Given the description of an element on the screen output the (x, y) to click on. 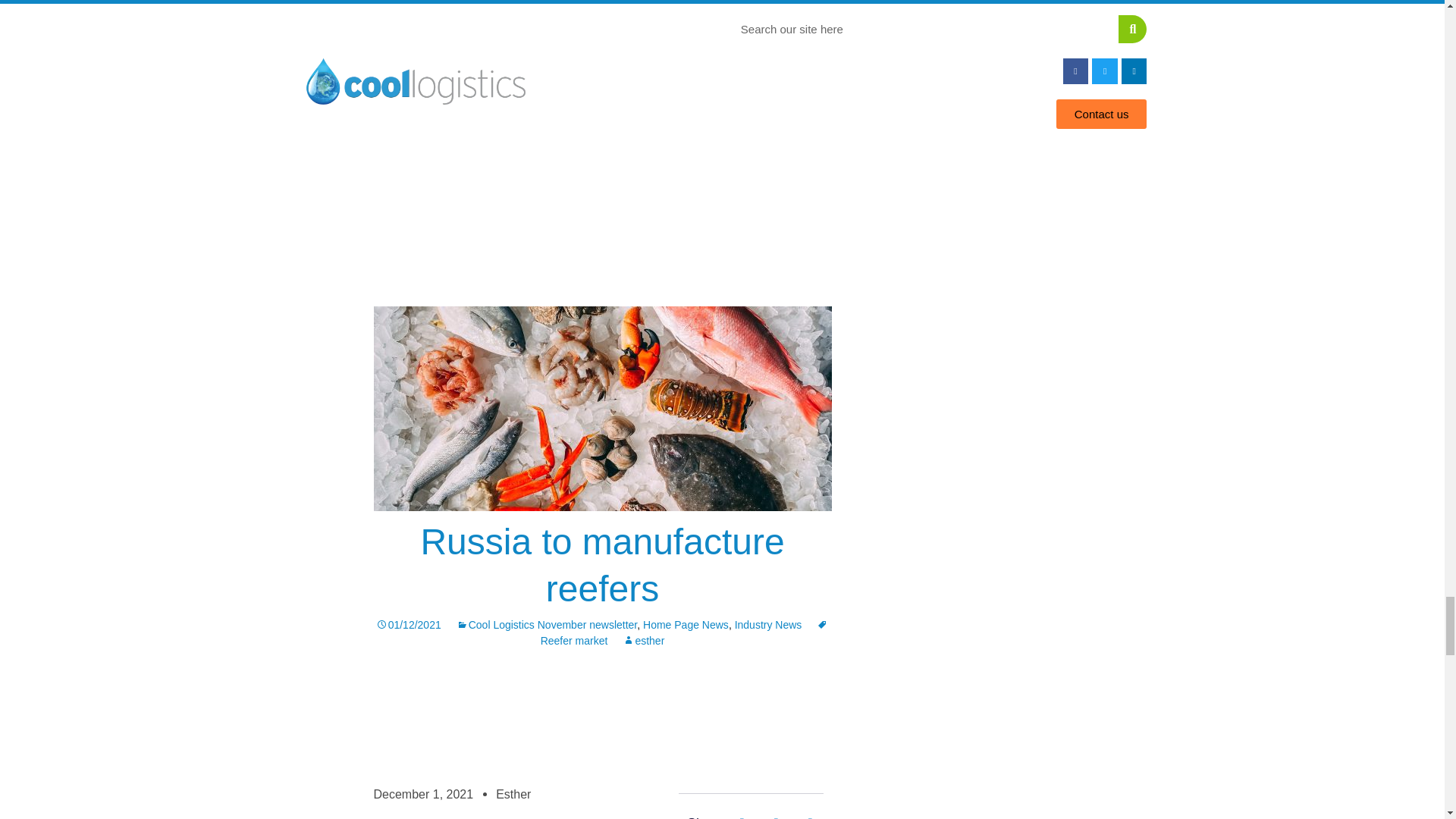
View all posts by esther (643, 640)
Permalink to Russia to manufacture reefers (408, 624)
